Given the description of an element on the screen output the (x, y) to click on. 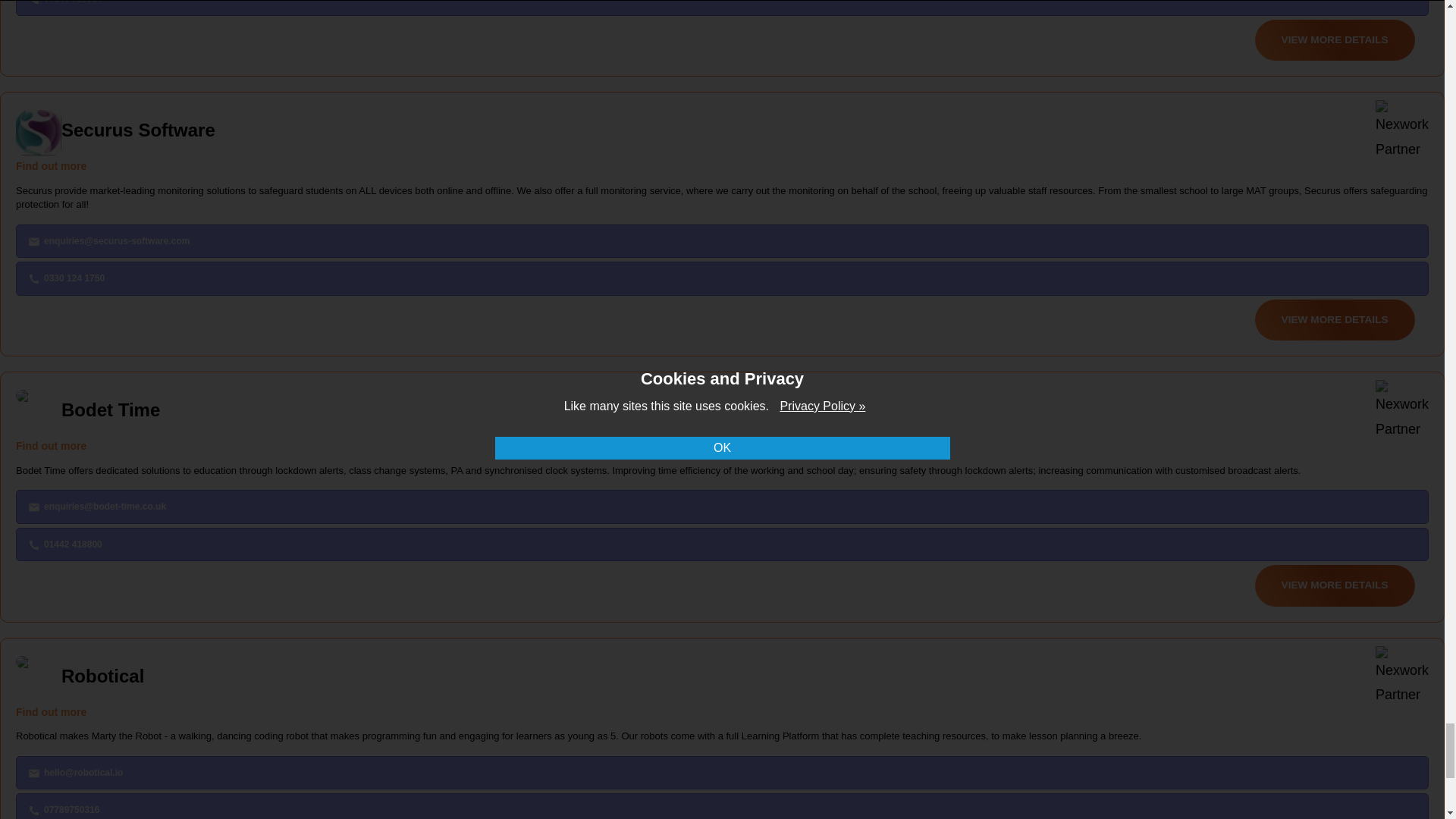
call (33, 544)
email (33, 241)
email (33, 773)
email (33, 507)
call (33, 810)
call (33, 278)
call (33, 2)
